Given the description of an element on the screen output the (x, y) to click on. 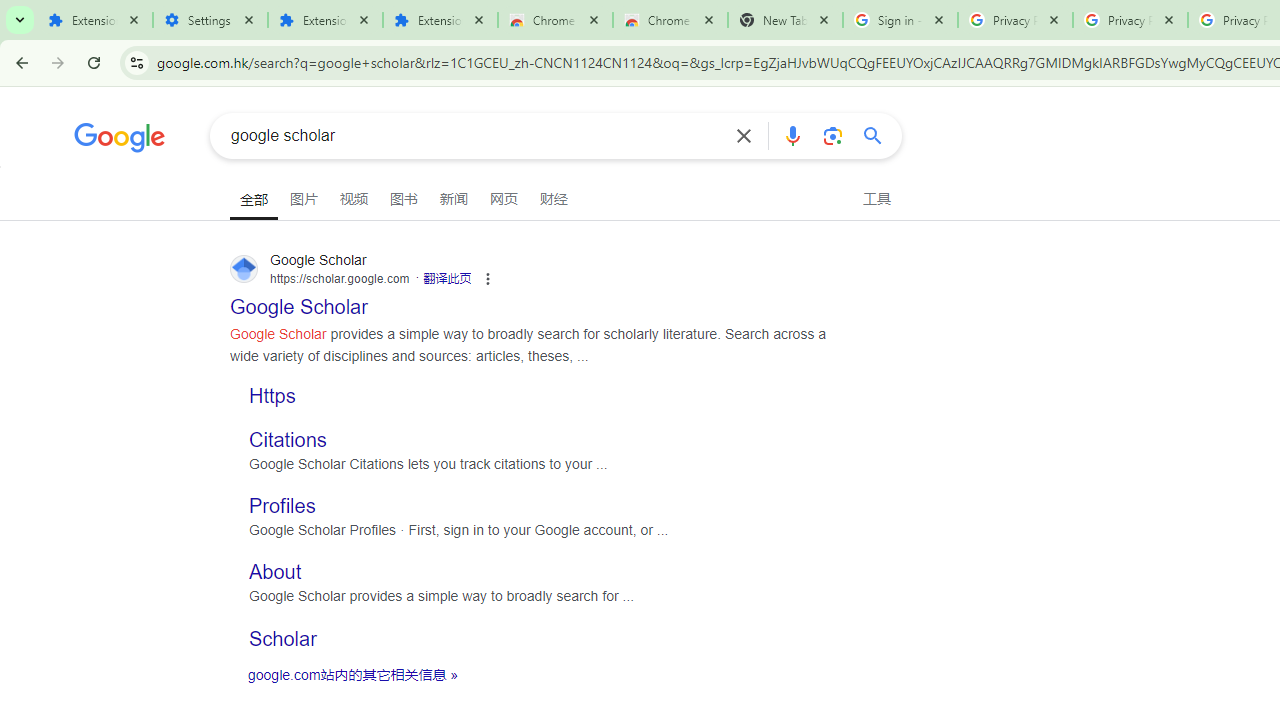
About (275, 571)
Chrome Web Store (555, 20)
Chrome Web Store - Themes (670, 20)
Settings (209, 20)
Sign in - Google Accounts (900, 20)
Profiles (282, 506)
